Given the description of an element on the screen output the (x, y) to click on. 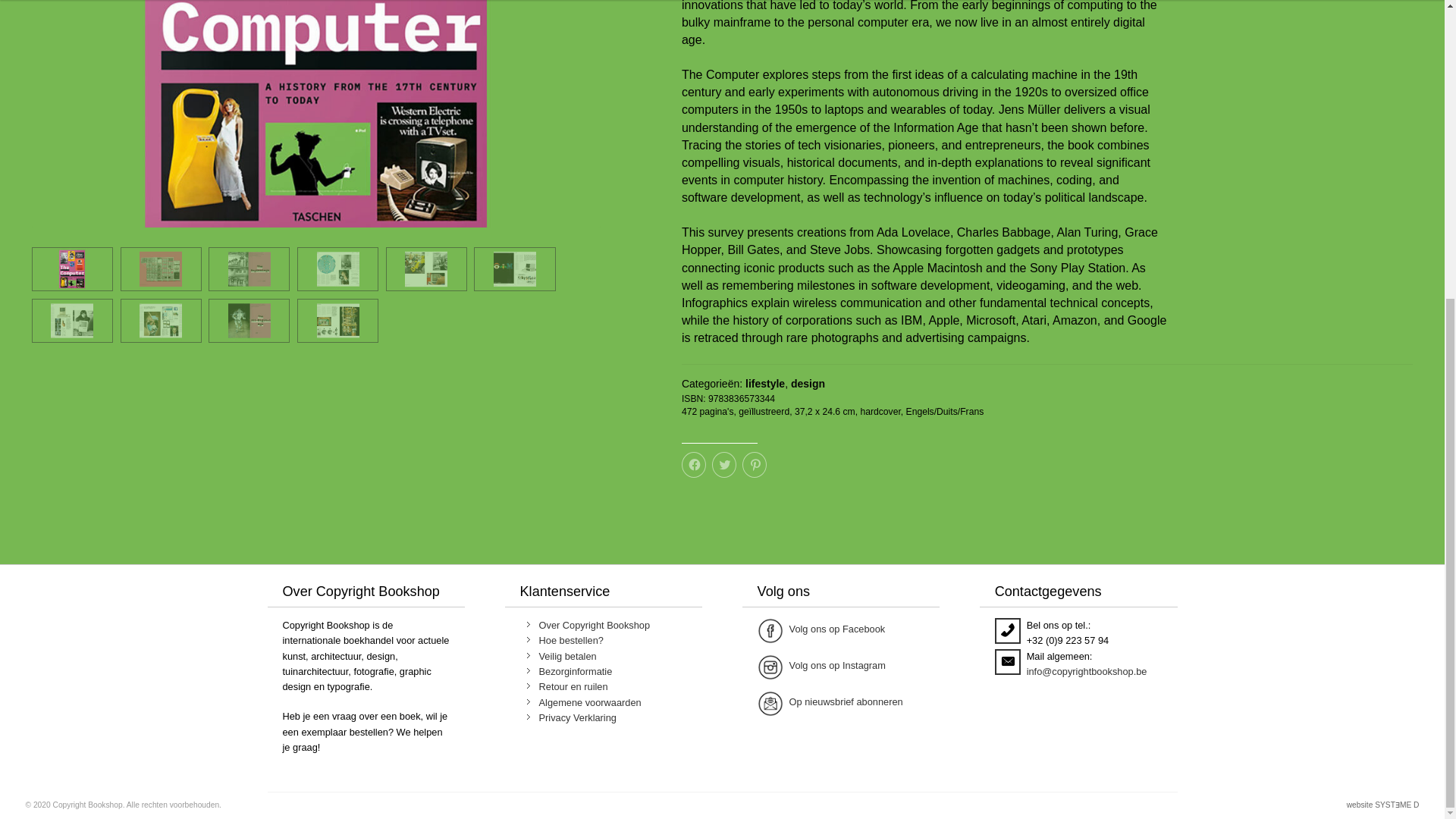
Klik om te delen op Facebook (693, 464)
Veilig betalen (567, 655)
design (807, 383)
lifestyle (764, 383)
co1 (315, 114)
Hoe bestellen? (571, 640)
Over Copyright Bookshop (594, 624)
